Given the description of an element on the screen output the (x, y) to click on. 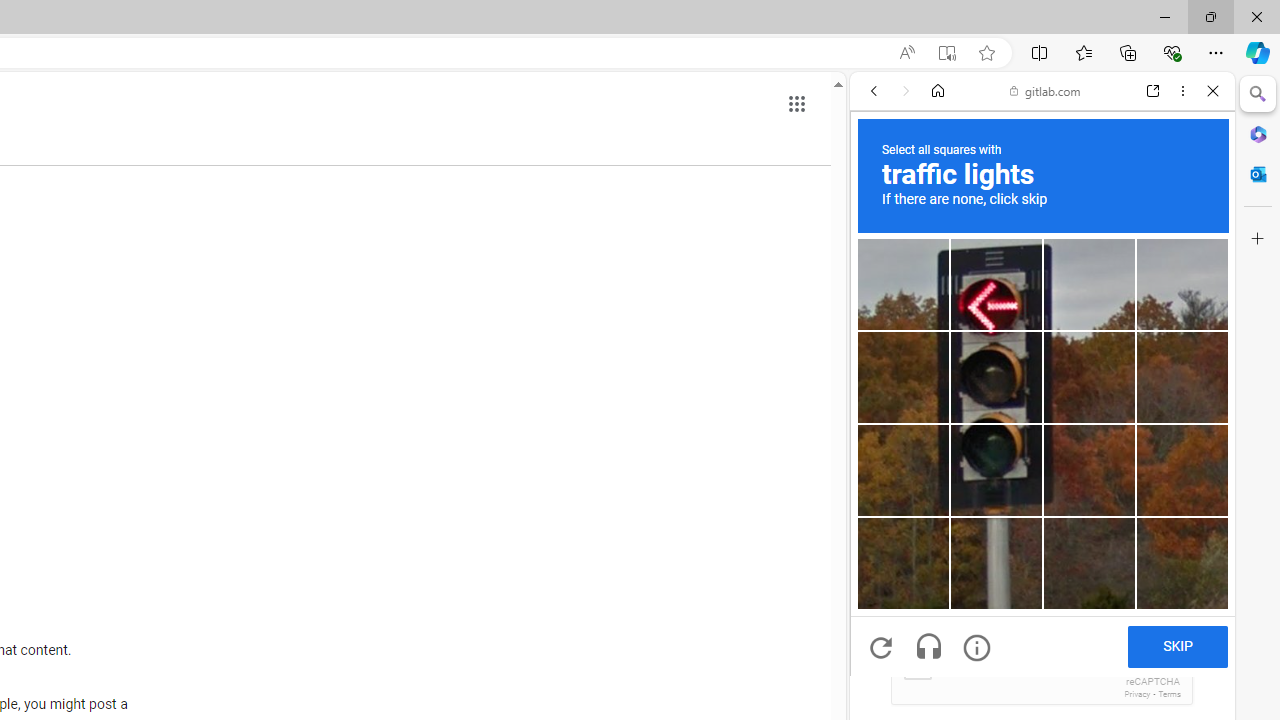
SKIP (1177, 646)
Emails (886, 603)
